Given the description of an element on the screen output the (x, y) to click on. 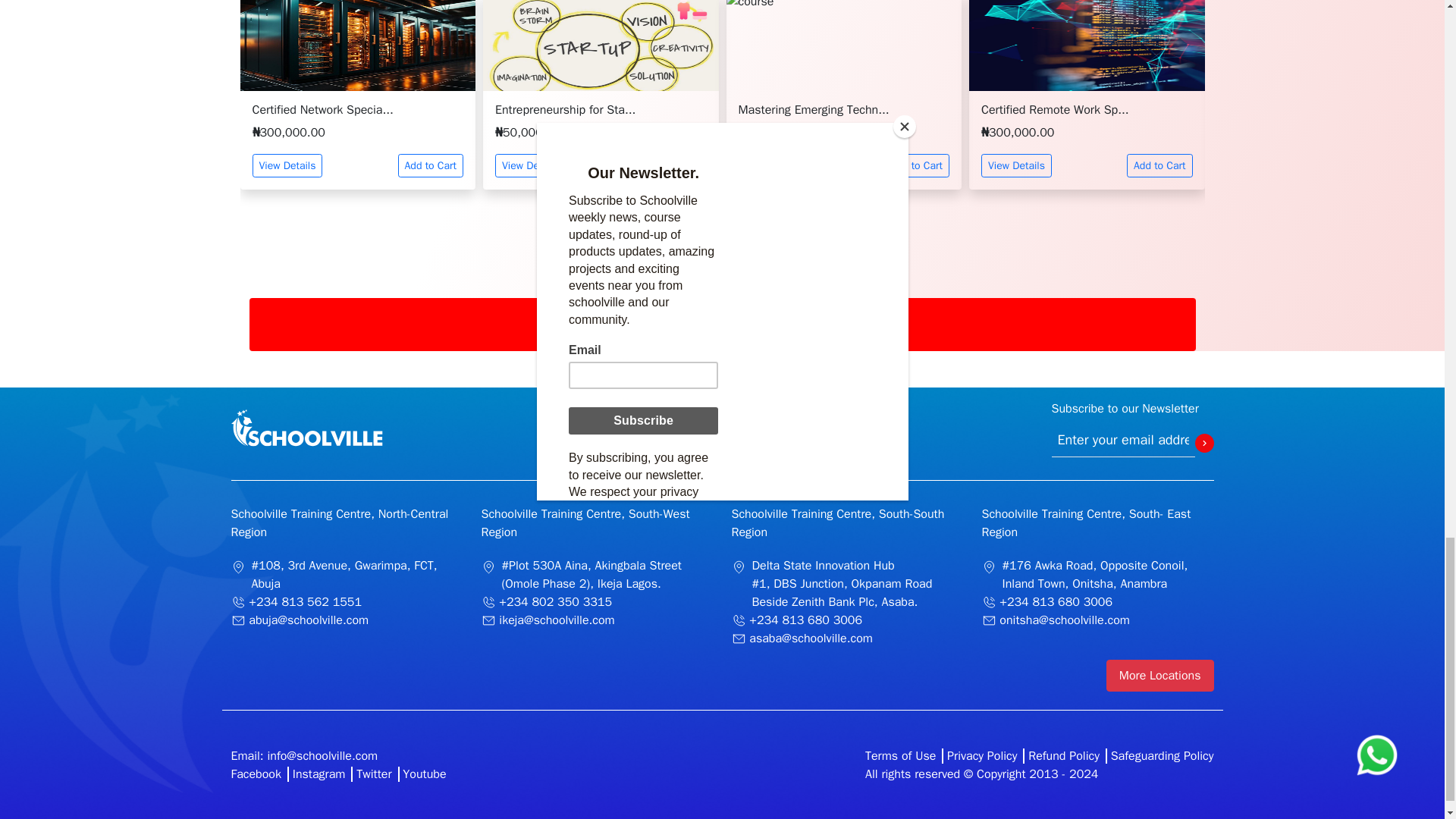
View Details (286, 165)
View Details (773, 165)
View Details (530, 165)
Add to Cart (430, 165)
Add to Cart (1159, 165)
Add to Cart (673, 165)
View Details (1016, 165)
Add to Cart (916, 165)
